Given the description of an element on the screen output the (x, y) to click on. 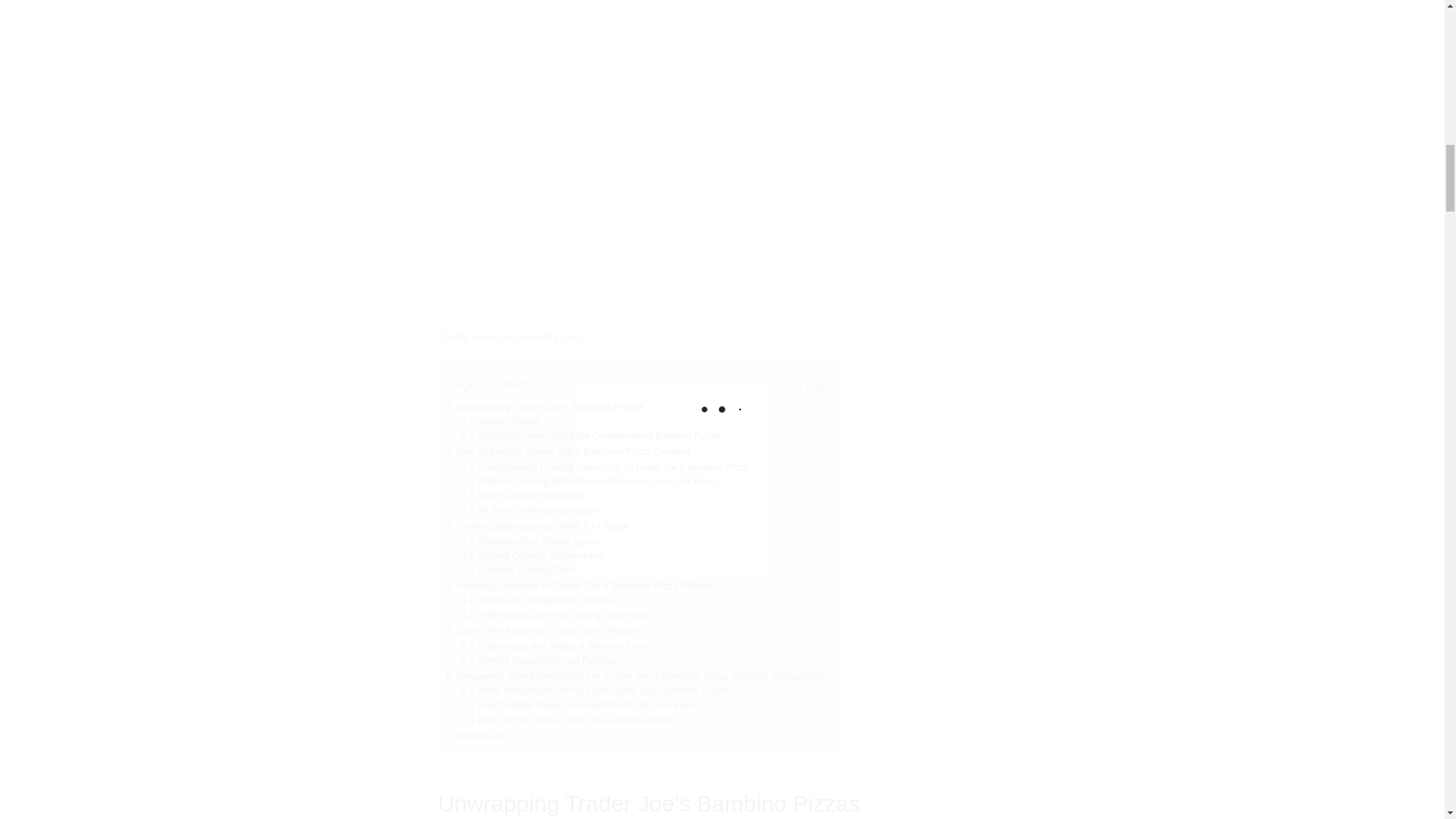
Serving Suggestions And Pairings (537, 660)
Variety Offered (499, 421)
Essential Cooking Tools (517, 570)
Air Fryer Cooking Instructions (528, 510)
Addressing Crust And Topping Challenges (554, 615)
Nutritional Values And Price Considerations Bambino Pizzas (590, 436)
Oven Cooking Instructions (523, 495)
Essential Cooking Tools (517, 570)
Oven Cooking Instructions (523, 495)
Optimal Cooking Temperatures (531, 555)
Preparing Your Kitchen Space (529, 540)
Timing And Temperature Nuances (537, 600)
Nutritional Values And Price Considerations Bambino Pizzas (590, 436)
Customizing And Adding A Personal Touch (555, 646)
